Given the description of an element on the screen output the (x, y) to click on. 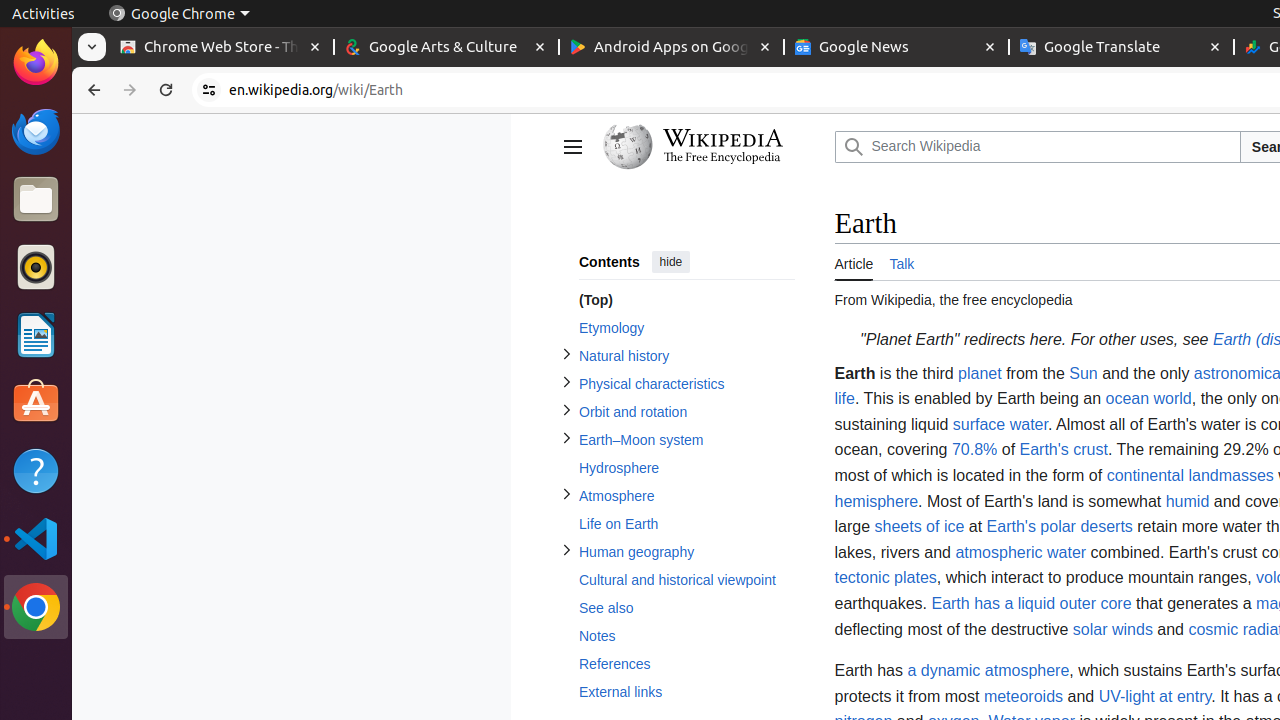
Google Arts & Culture - Memory usage - 122 MB Element type: page-tab (446, 47)
Main menu Element type: push-button (572, 147)
a dynamic atmosphere Element type: link (988, 671)
Physical characteristics Element type: link (686, 384)
sheets of ice Element type: link (919, 527)
